Given the description of an element on the screen output the (x, y) to click on. 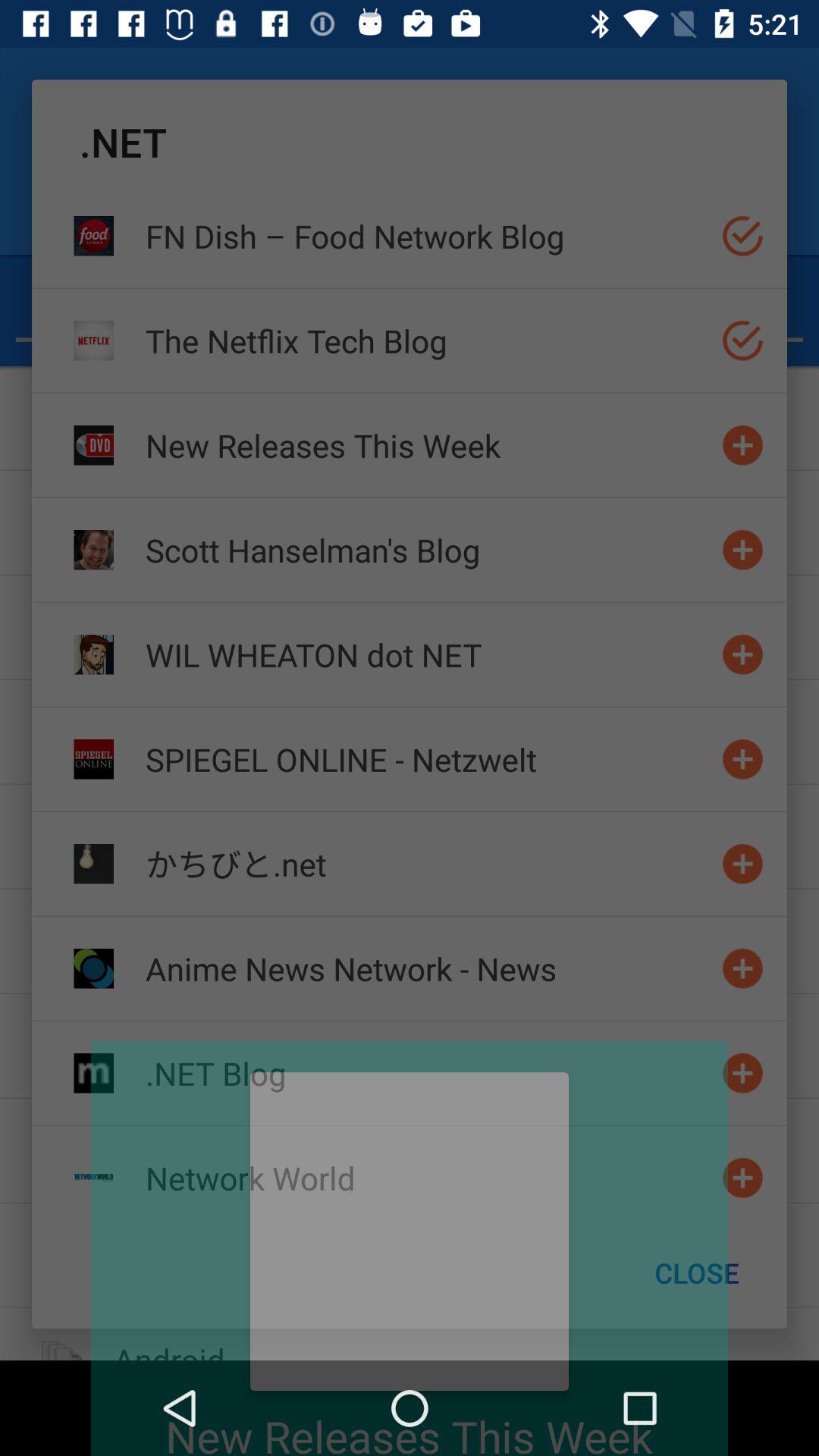
choose the network world icon (426, 1177)
